Given the description of an element on the screen output the (x, y) to click on. 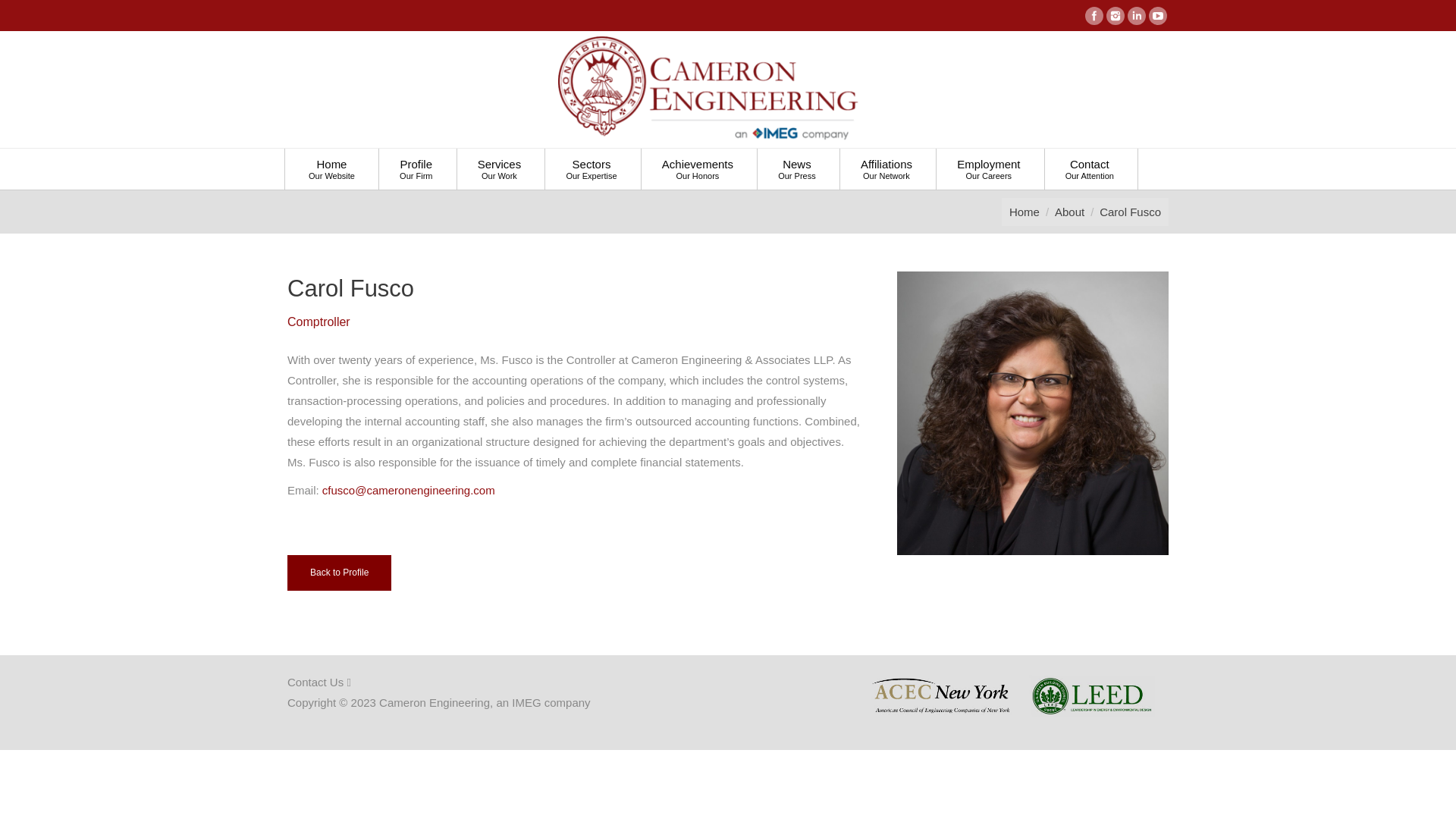
Back to Profile (338, 572)
News (796, 170)
Sectors (590, 170)
Profile (415, 170)
YouTube (1157, 15)
Linkedin (1135, 15)
Home (1024, 211)
Employment (988, 170)
Contact (1089, 170)
Instagram (1115, 15)
Contact Us (318, 681)
Facebook (1093, 15)
Home (331, 170)
About (1069, 211)
Services (499, 170)
